Given the description of an element on the screen output the (x, y) to click on. 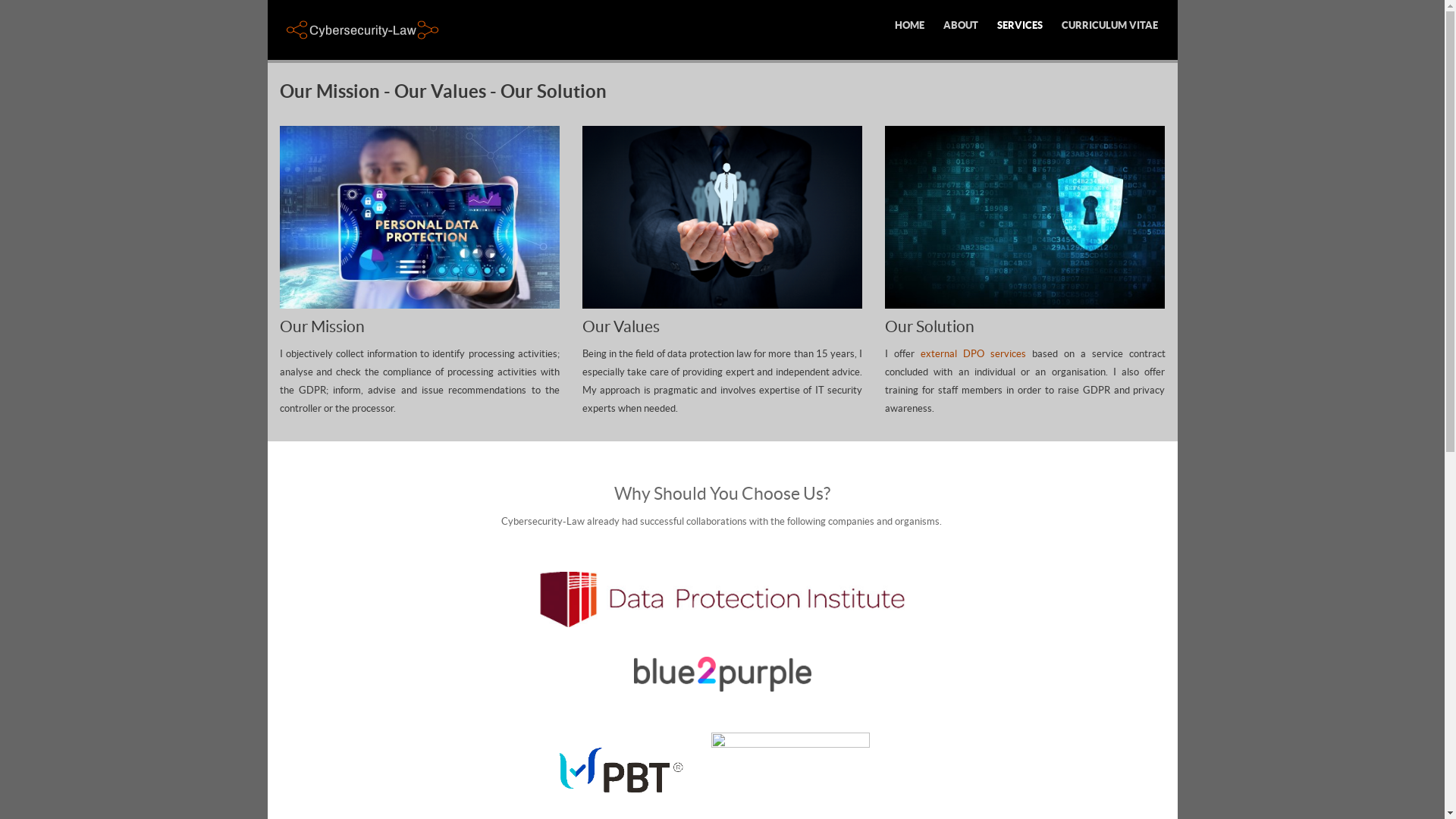
ABOUT Element type: text (960, 25)
HOME Element type: text (909, 25)
external DPO services Element type: text (973, 353)
SERVICES Element type: text (1018, 25)
CURRICULUM VITAE Element type: text (1109, 25)
